Given the description of an element on the screen output the (x, y) to click on. 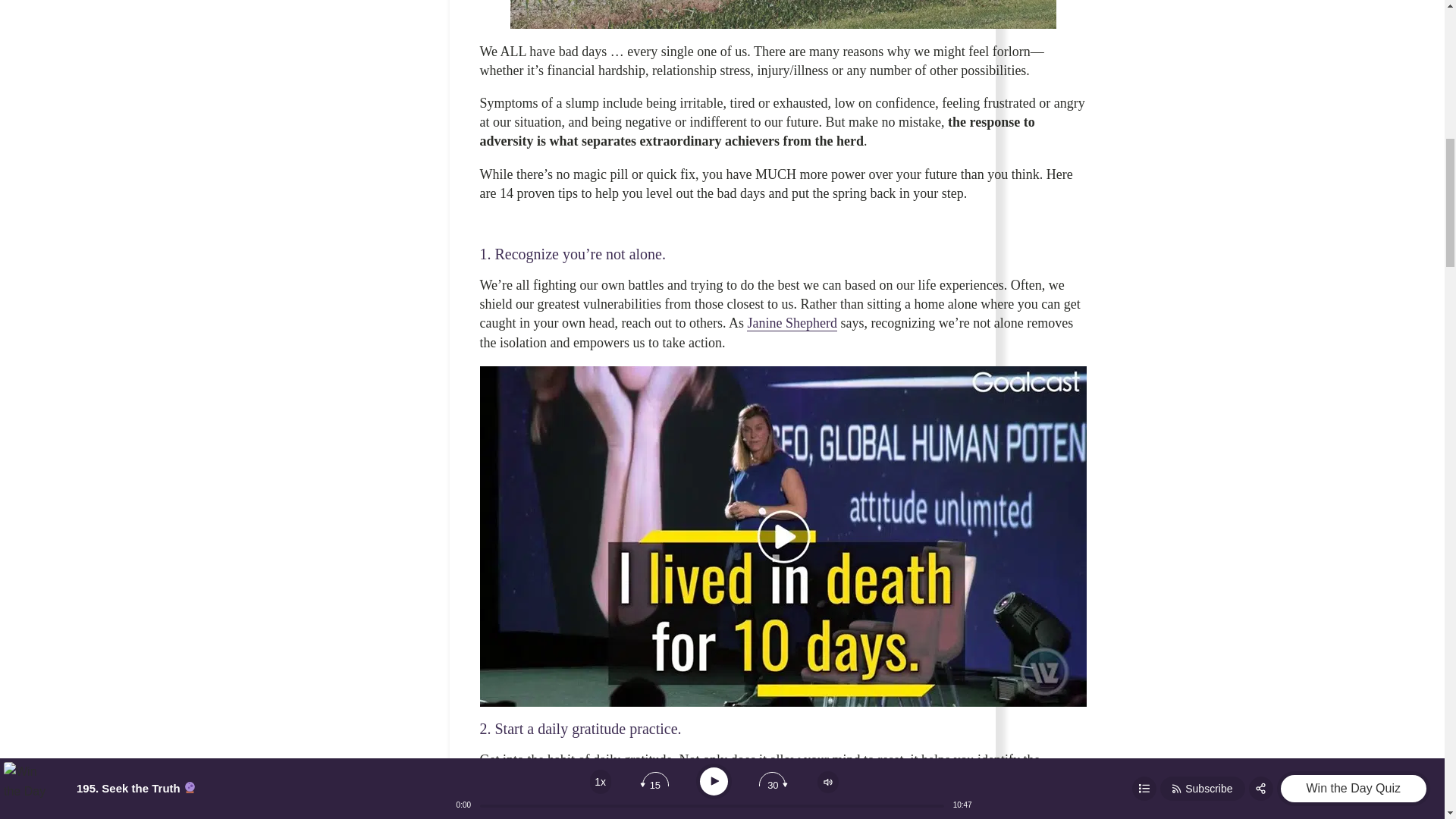
Janine Shepherd (790, 323)
The 5 Minute Journal (721, 814)
last newsletter (1017, 779)
